Given the description of an element on the screen output the (x, y) to click on. 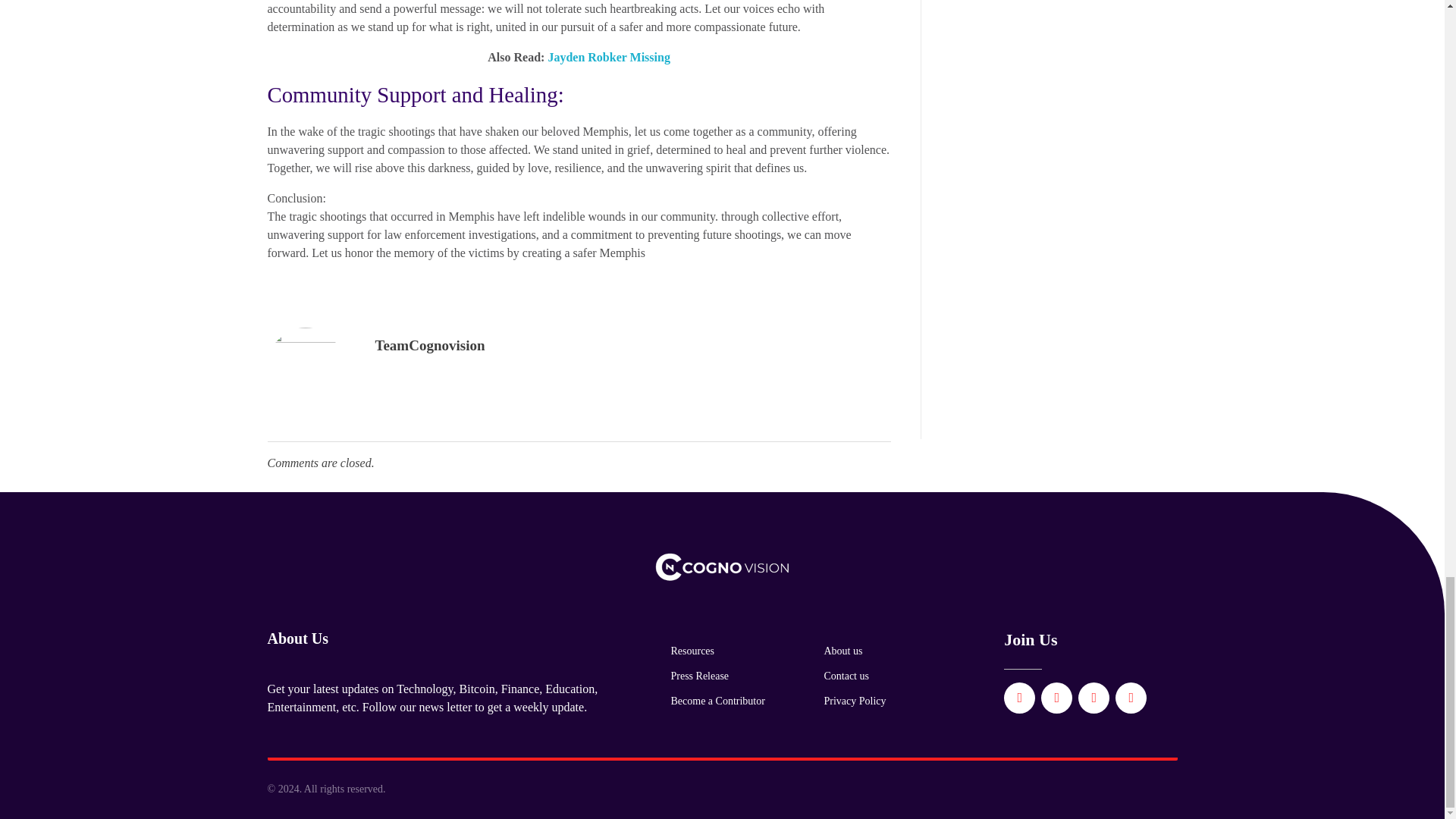
Resources (691, 650)
TeamCognovision (429, 344)
Jayden Robker Missing (606, 56)
View all posts by TeamCognovision (429, 344)
